Given the description of an element on the screen output the (x, y) to click on. 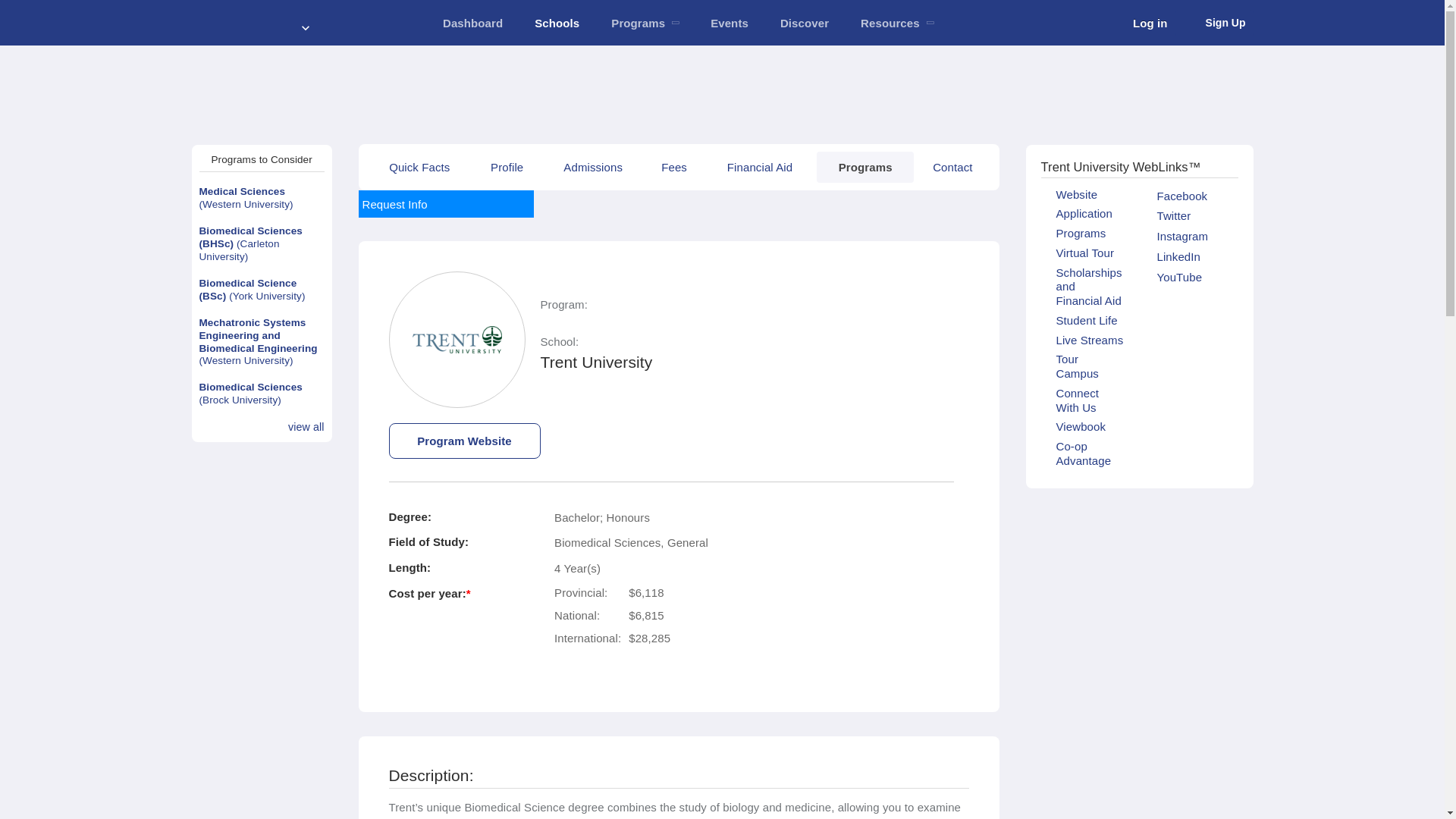
Profile (506, 166)
Dashboard (472, 22)
Fees (674, 166)
Financial Aid (759, 166)
Sign Up (1213, 22)
Schools (556, 22)
Resources (896, 22)
Discover (804, 22)
Events (729, 22)
Programs (865, 166)
